Given the description of an element on the screen output the (x, y) to click on. 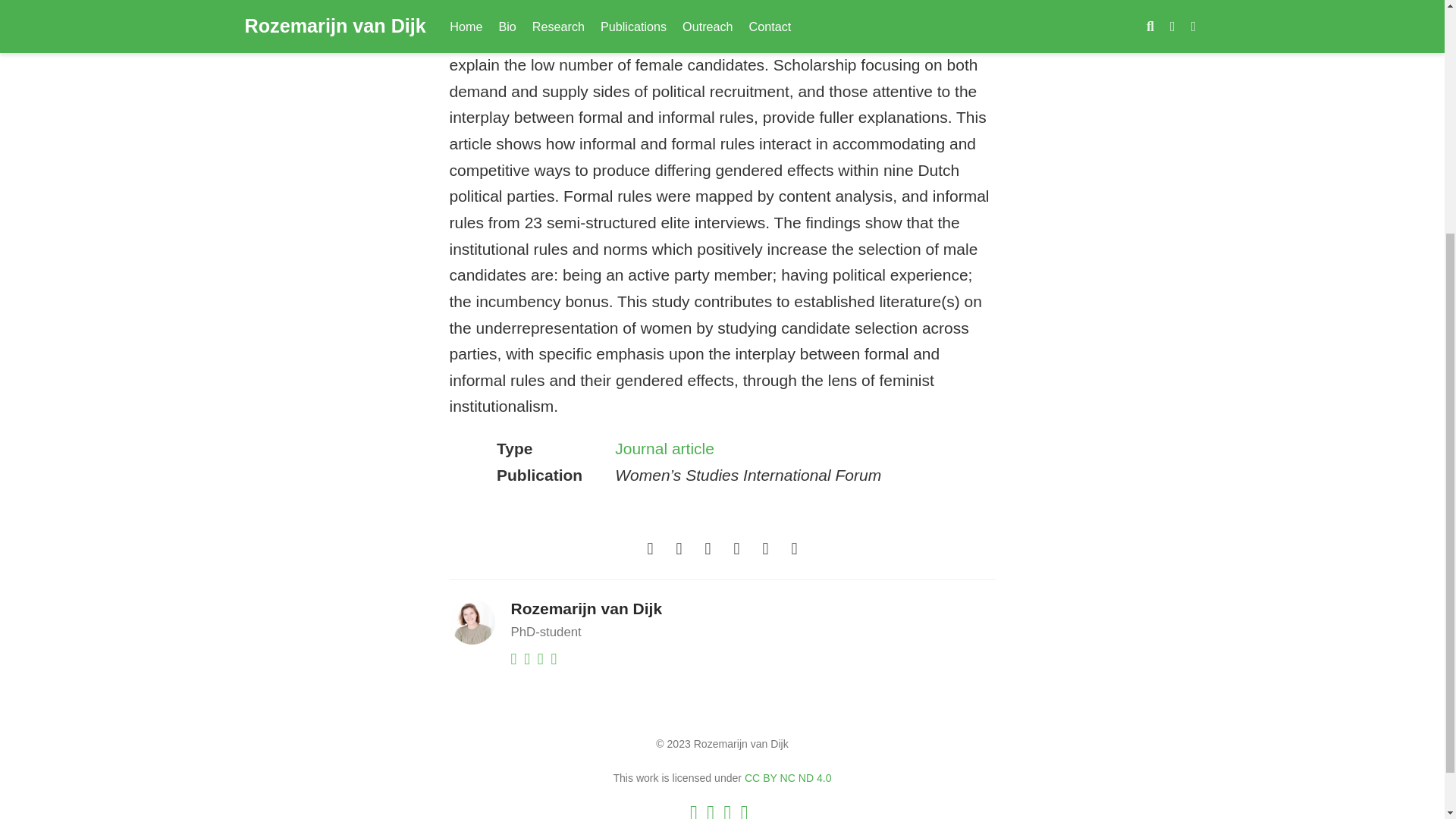
Journal article (664, 448)
Rozemarijn van Dijk (586, 608)
CC BY NC ND 4.0 (787, 777)
